Given the description of an element on the screen output the (x, y) to click on. 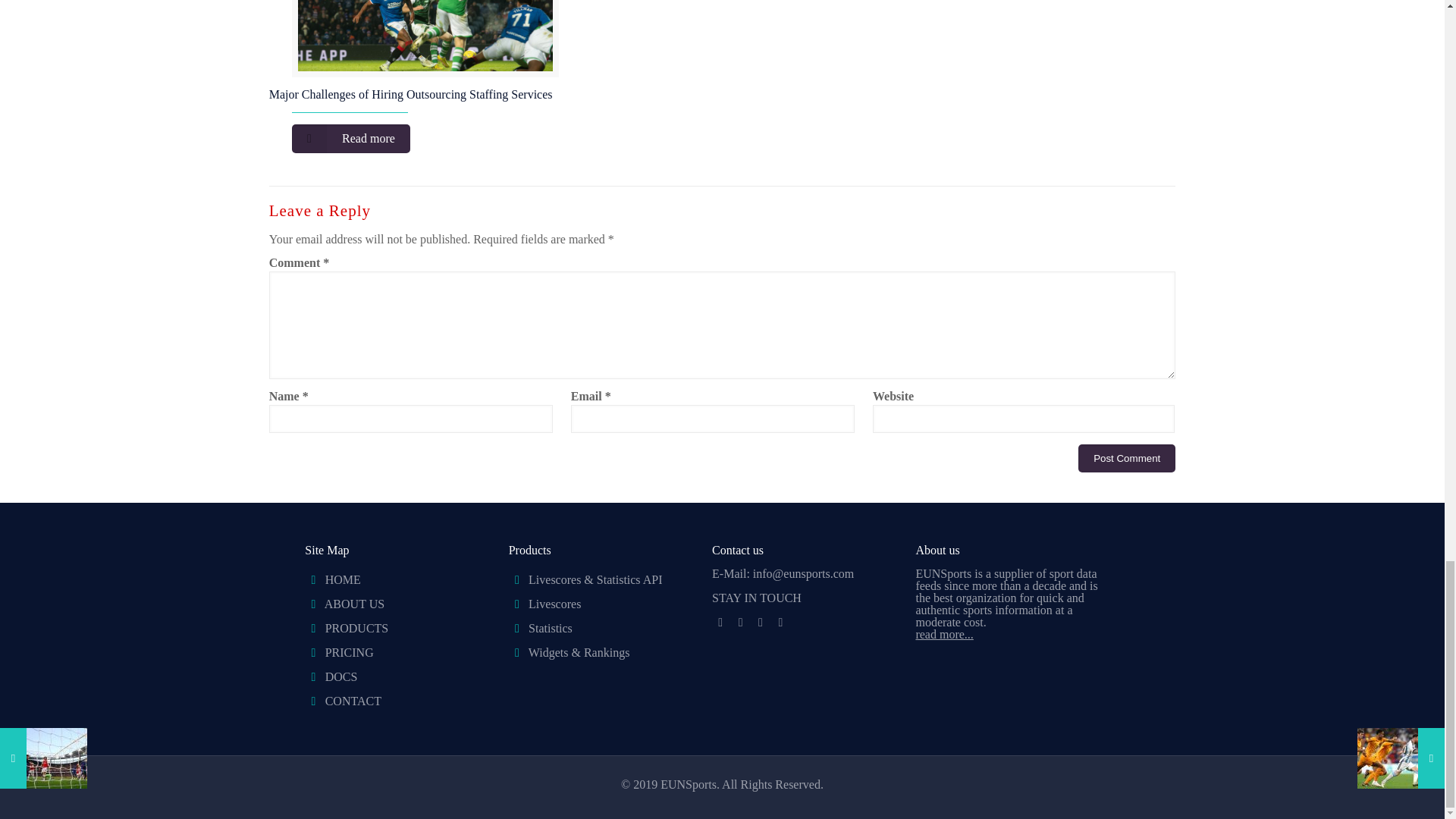
Post Comment (1126, 458)
Major Challenges of Hiring Outsourcing Staffing Services (411, 93)
Post Comment (1126, 458)
Read more (351, 138)
